Given the description of an element on the screen output the (x, y) to click on. 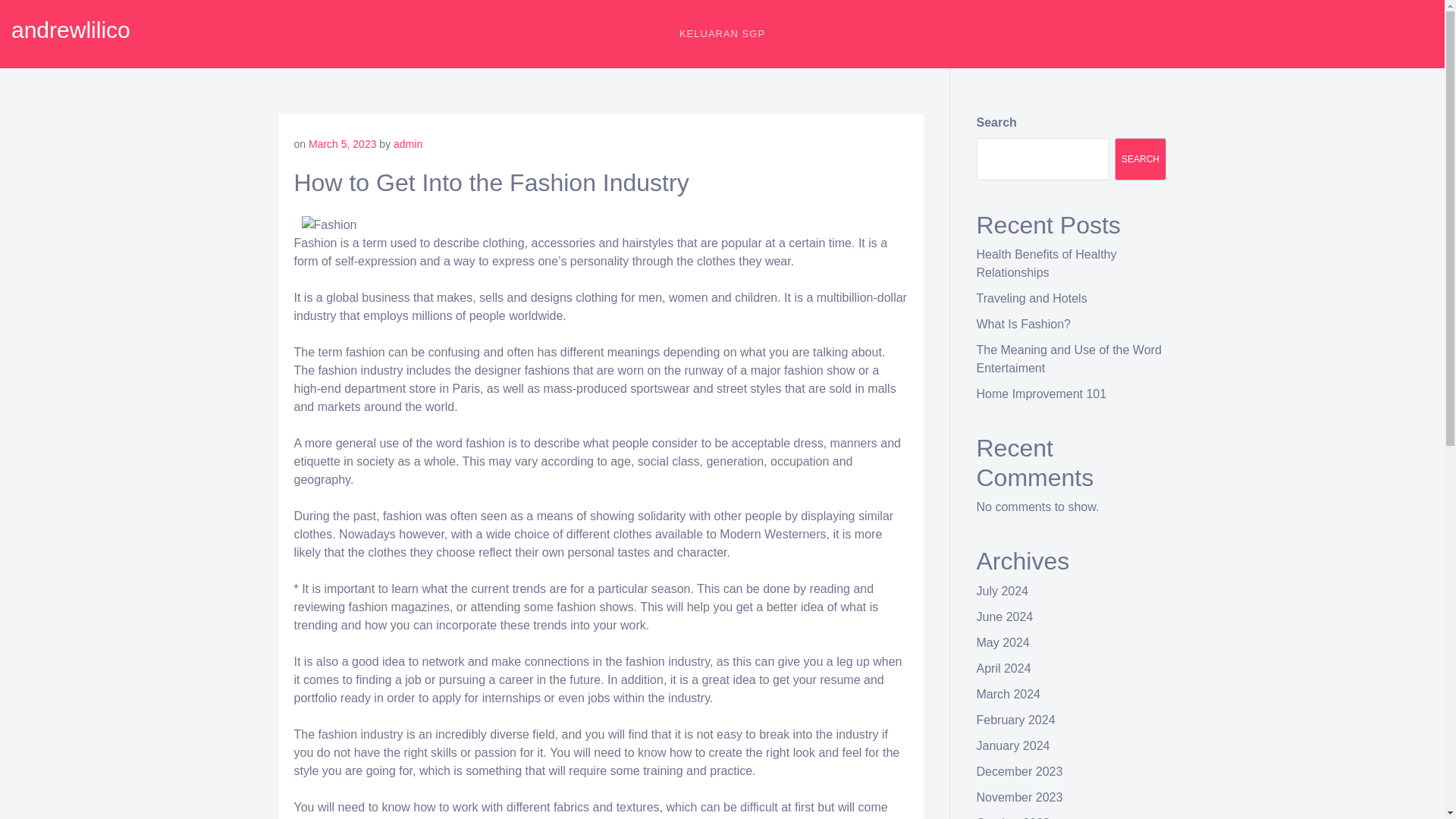
Traveling and Hotels (1031, 297)
April 2024 (1003, 667)
admin (407, 143)
SEARCH (1140, 159)
Health Benefits of Healthy Relationships (1046, 263)
November 2023 (1019, 797)
KELUARAN SGP (722, 33)
What Is Fashion? (1023, 323)
October 2023 (1012, 817)
February 2024 (1015, 719)
